Given the description of an element on the screen output the (x, y) to click on. 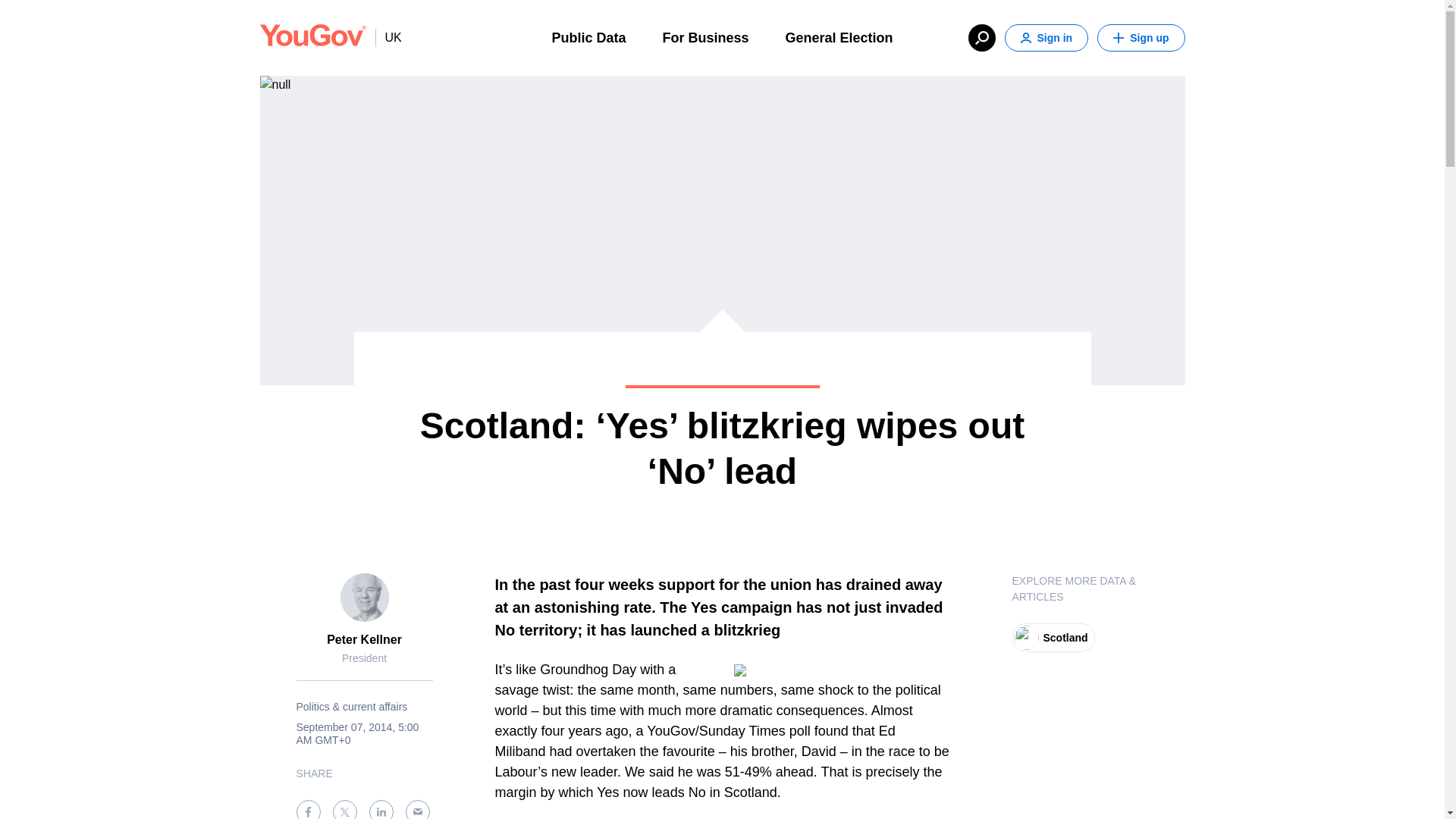
General Election (839, 37)
Public Data (588, 37)
For Business (705, 37)
UK (387, 37)
